Given the description of an element on the screen output the (x, y) to click on. 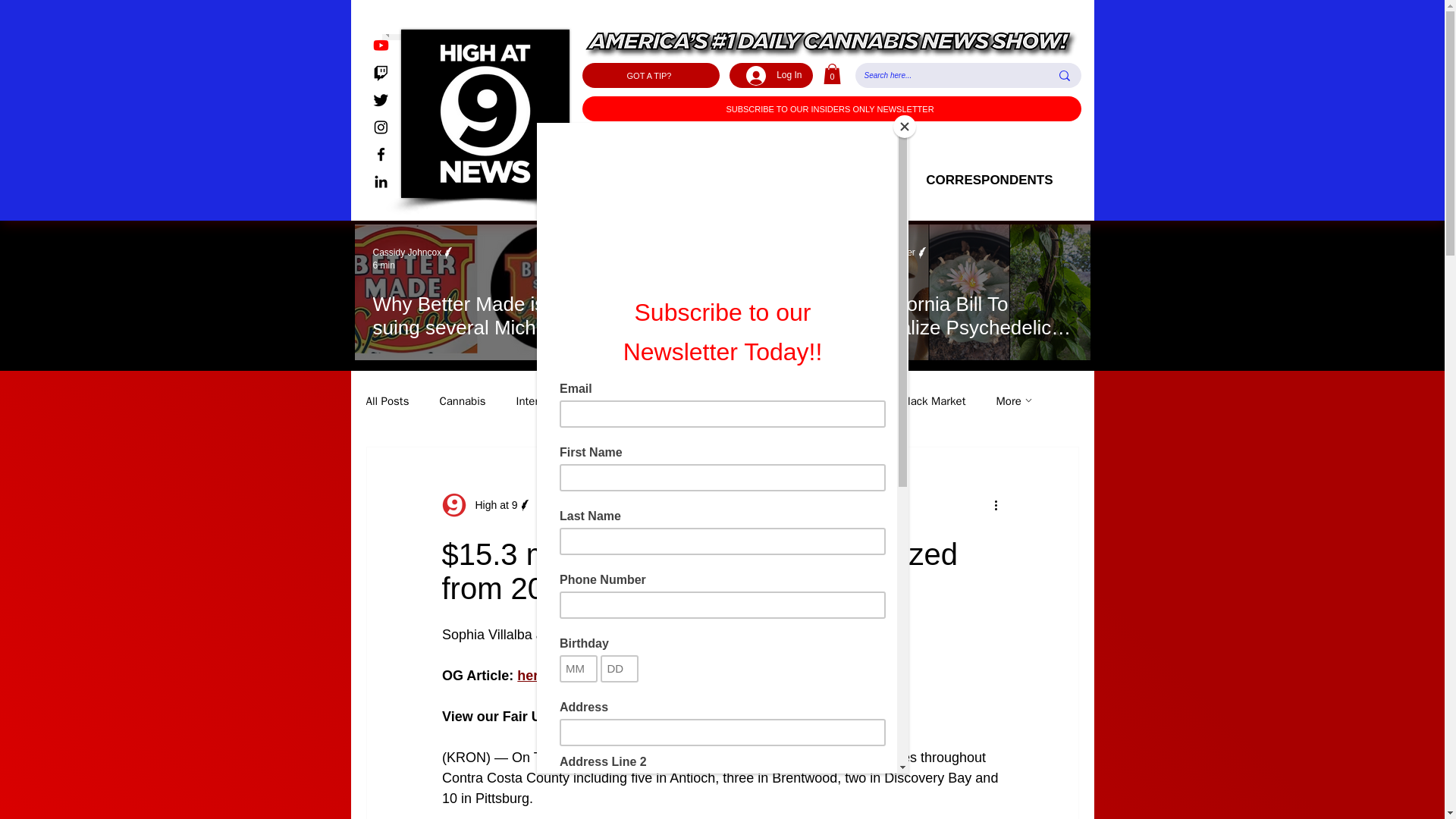
CORRESPONDENTS (989, 180)
0 (832, 73)
Kyle Jaeger (891, 252)
All Posts (387, 400)
High at 9 (486, 504)
Lounges (629, 400)
GOT A TIP? (650, 75)
CBD (691, 400)
here (531, 675)
High at 9 (490, 505)
FDA (789, 400)
Banking (850, 400)
Sex (741, 400)
Kyle Jaeger (651, 252)
3 min (878, 265)
